Given the description of an element on the screen output the (x, y) to click on. 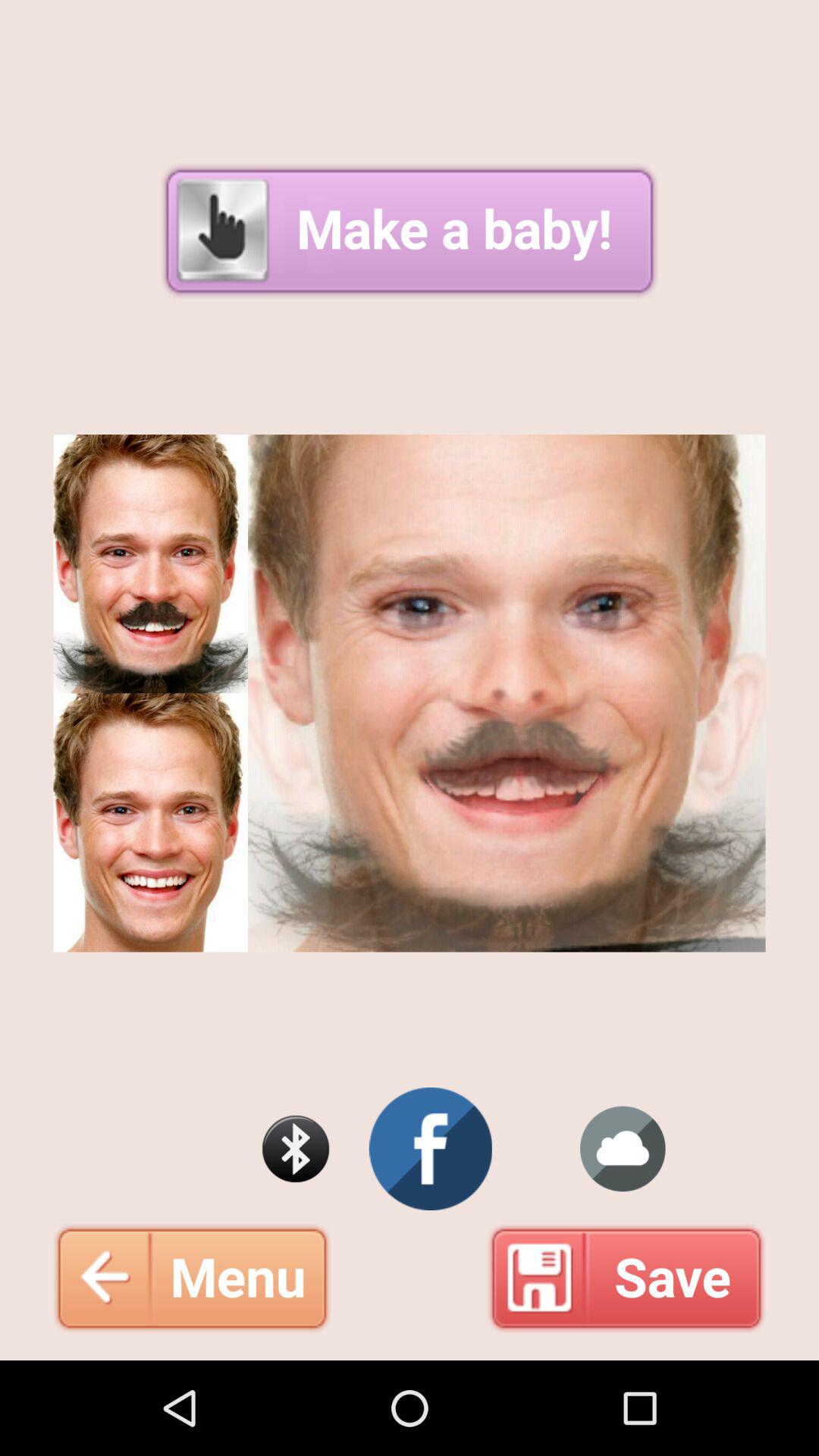
search bluetooth (295, 1148)
